Given the description of an element on the screen output the (x, y) to click on. 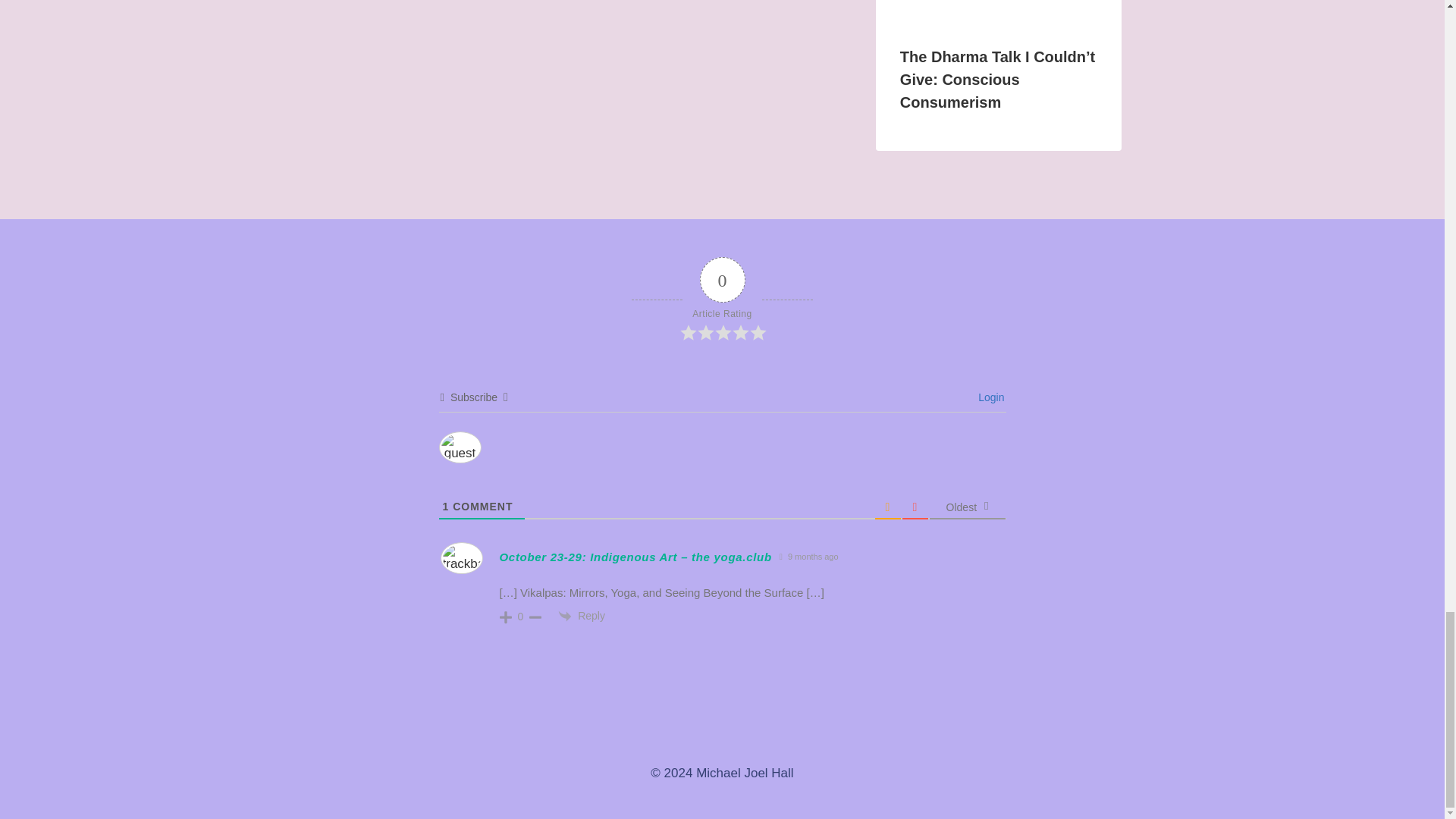
Login (989, 397)
